Given the description of an element on the screen output the (x, y) to click on. 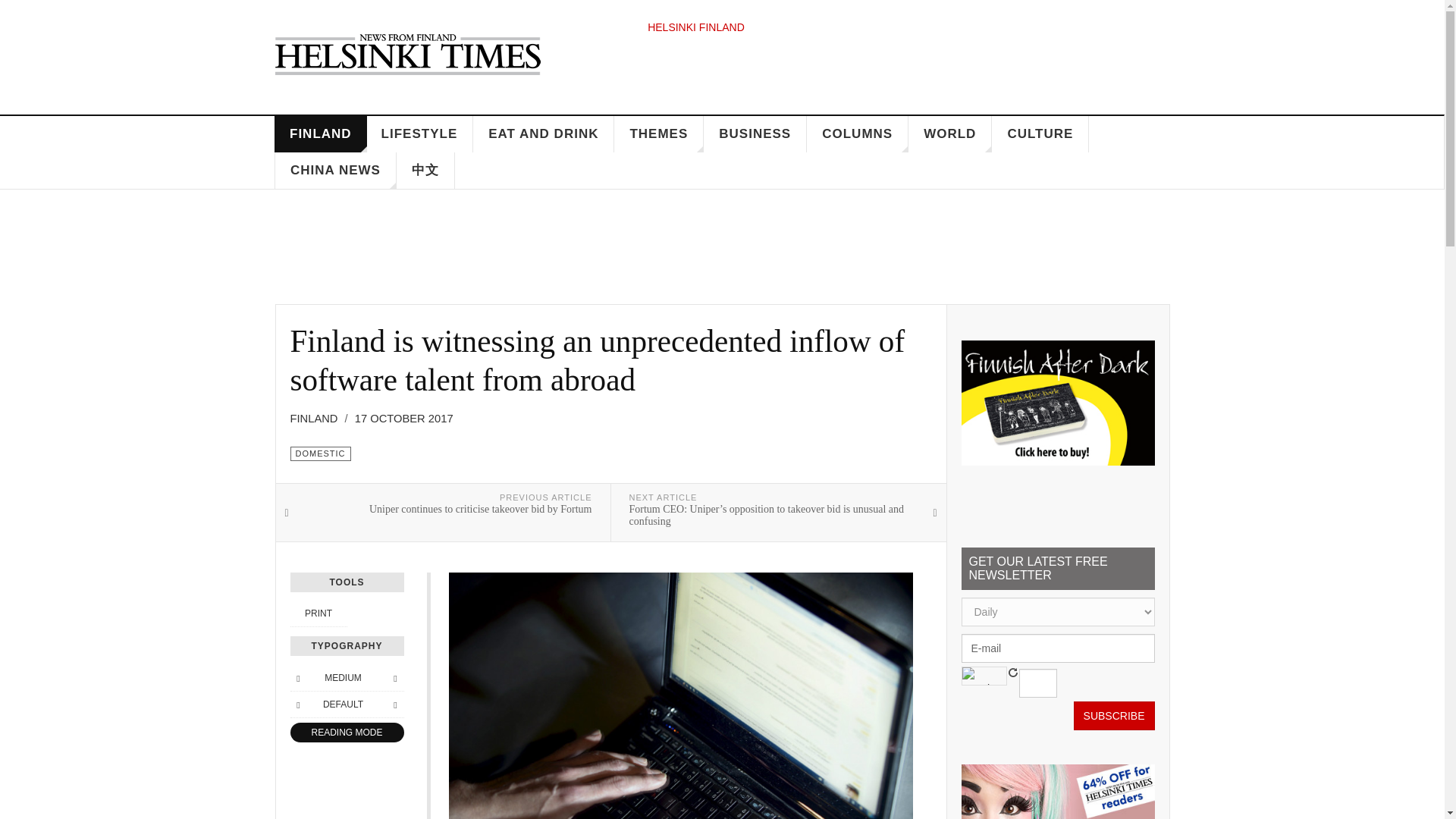
The captcha is invalid, please try again (1038, 683)
Published:  (403, 418)
ICP3 (1057, 791)
Reading Mode (346, 732)
E-mail (1057, 647)
The captcha is invalid, please try again (983, 675)
Print (317, 613)
After-dark (1057, 403)
Parent Category:  (318, 418)
Category:  (319, 453)
HelsinkiTimes (407, 54)
Smaller Font (297, 677)
Subscribe (1114, 715)
FINLAND (320, 134)
HELSINKI FINLAND (695, 27)
